Given the description of an element on the screen output the (x, y) to click on. 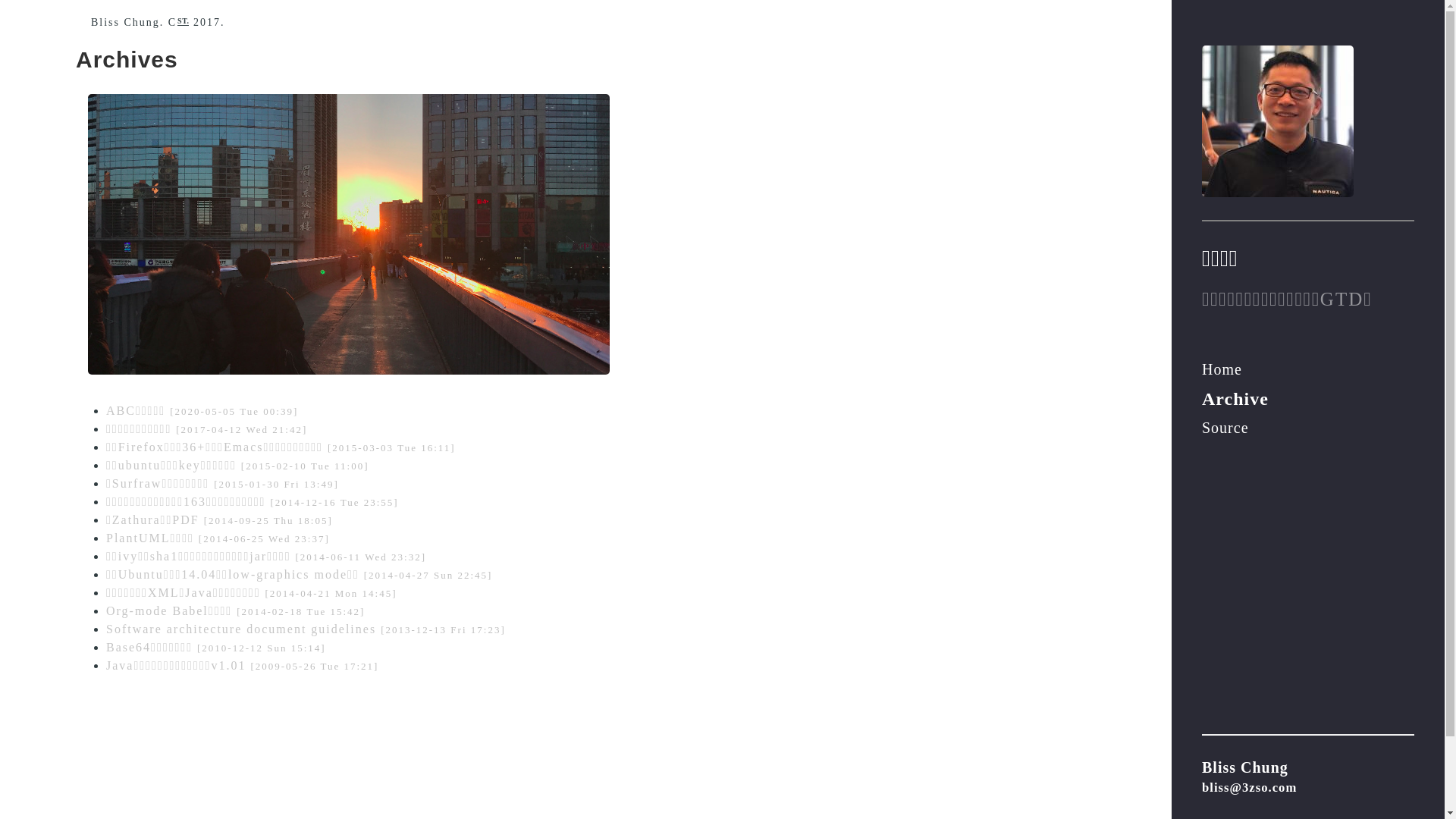
Software architecture document guidelines Element type: text (241, 628)
Source Element type: text (1307, 427)
3zso.com Element type: hover (1307, 121)
Home Element type: text (1307, 369)
Archive Element type: text (1307, 398)
